Given the description of an element on the screen output the (x, y) to click on. 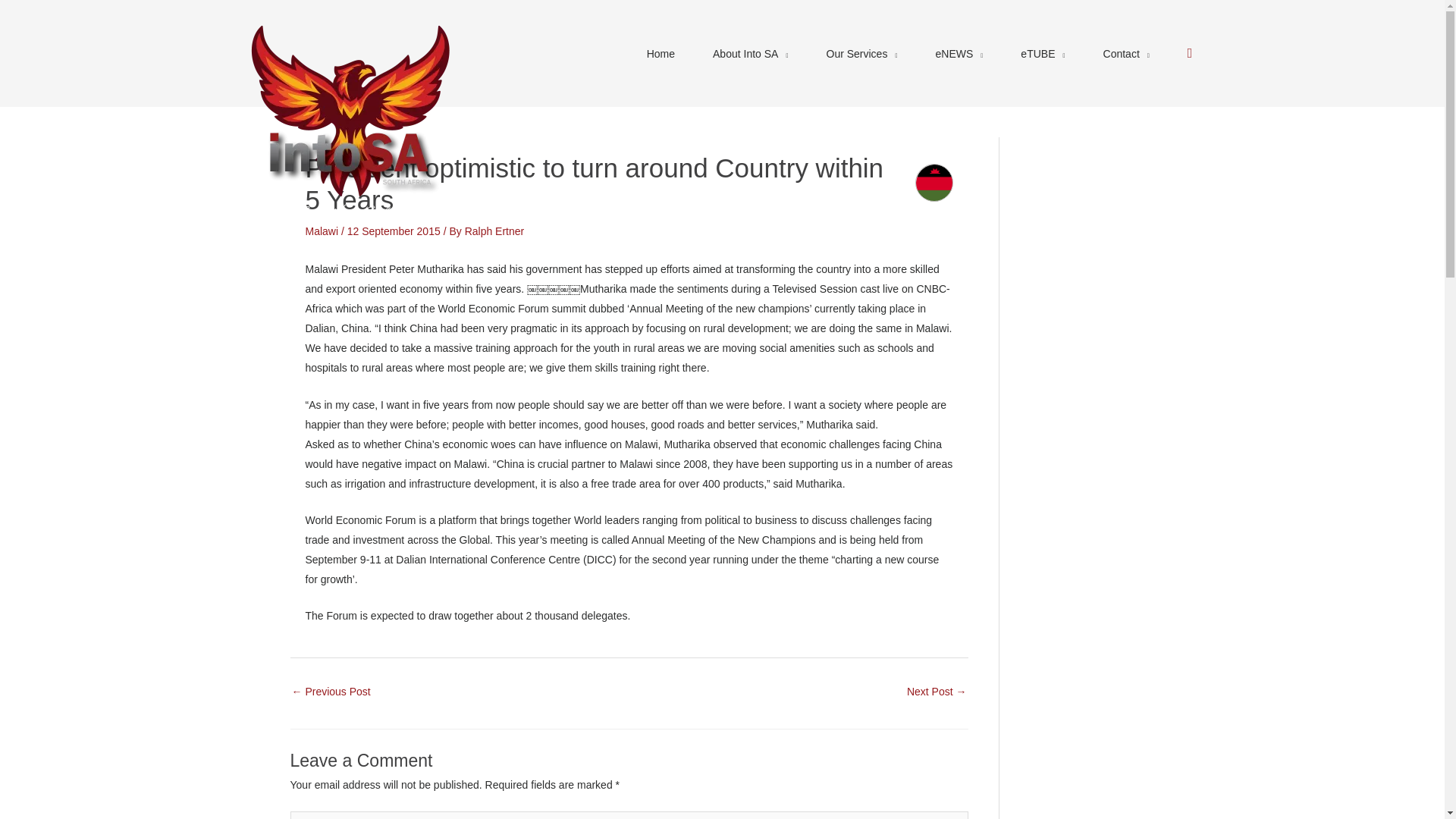
About Into SA (750, 52)
View all posts by Ralph Ertner (494, 231)
Home (660, 52)
Our Services (860, 52)
Korongo Airlines gives up (330, 692)
Load Shedding might be back next week! (936, 692)
